Given the description of an element on the screen output the (x, y) to click on. 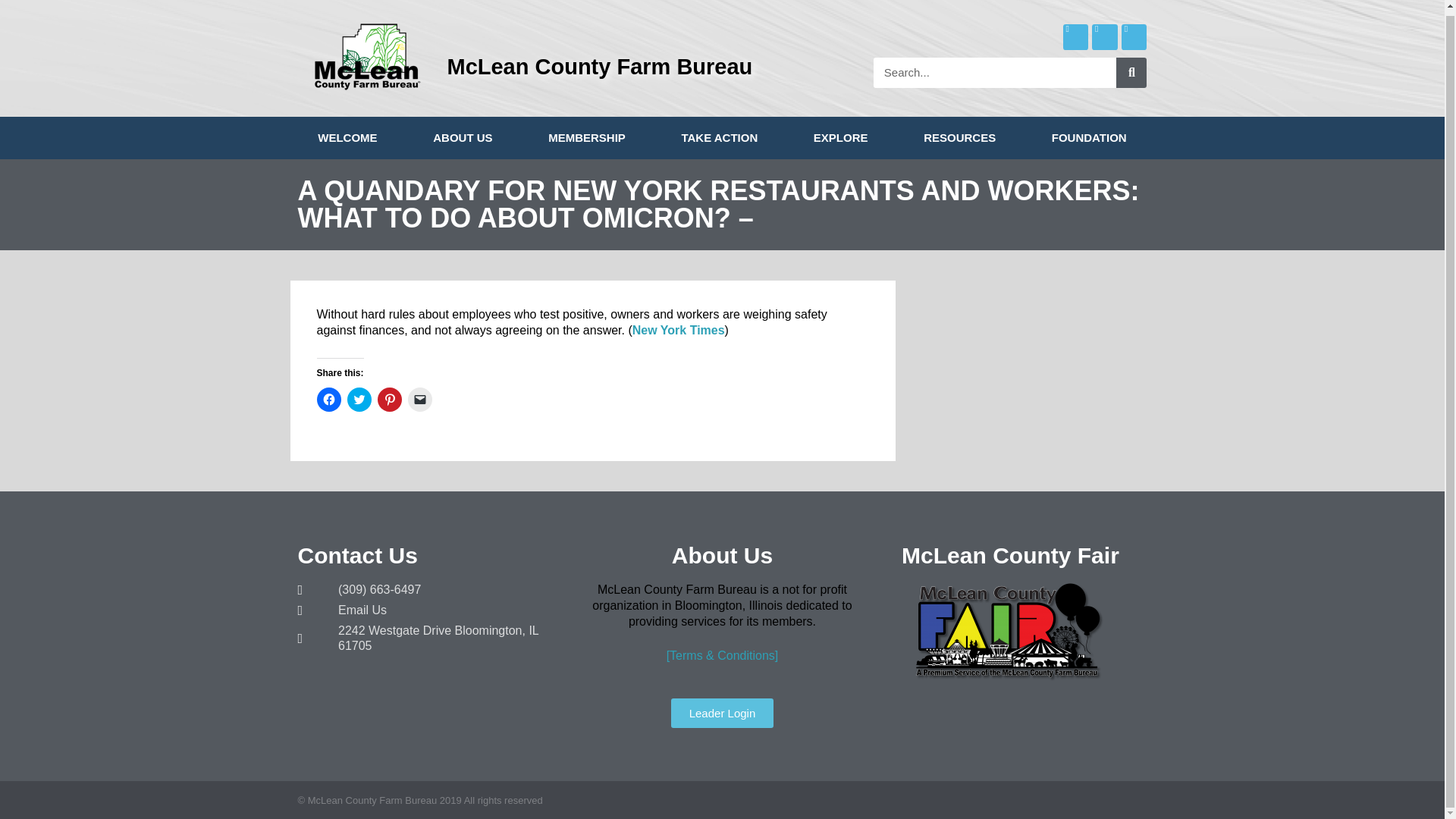
RESOURCES (959, 137)
EXPLORE (840, 137)
TAKE ACTION (719, 137)
Click to share on Twitter (359, 399)
MEMBERSHIP (585, 137)
FOUNDATION (1088, 137)
ABOUT US (461, 137)
Click to email a link to a friend (419, 399)
Click to share on Pinterest (389, 399)
Click to share on Facebook (328, 399)
WELCOME (346, 137)
McLean County Farm Bureau (599, 66)
